Given the description of an element on the screen output the (x, y) to click on. 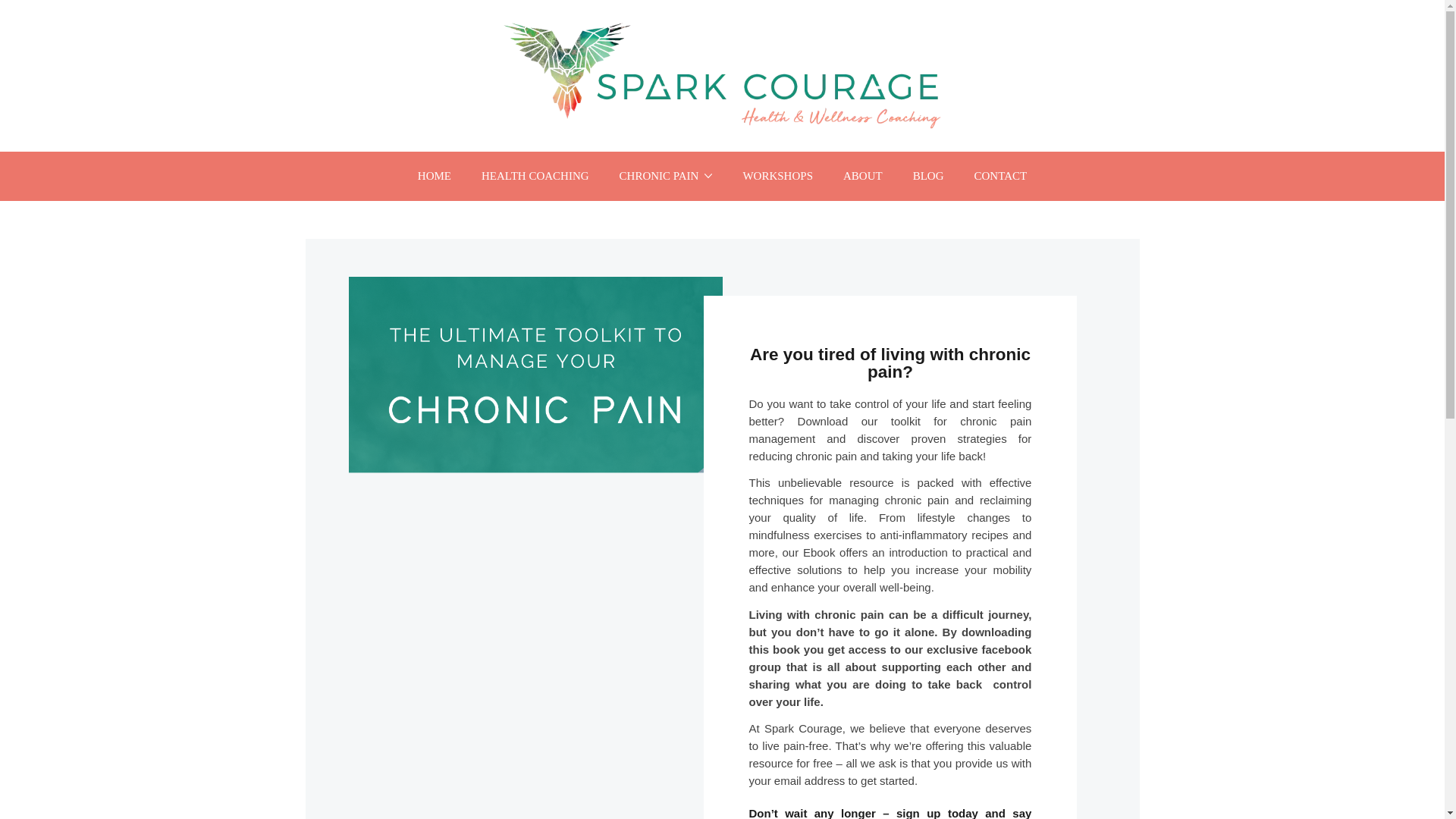
HEALTH COACHING (534, 175)
WORKSHOPS (777, 175)
ABOUT (863, 175)
BLOG (928, 175)
CONTACT (1000, 175)
HOME (434, 175)
CHRONIC PAIN (666, 175)
